Given the description of an element on the screen output the (x, y) to click on. 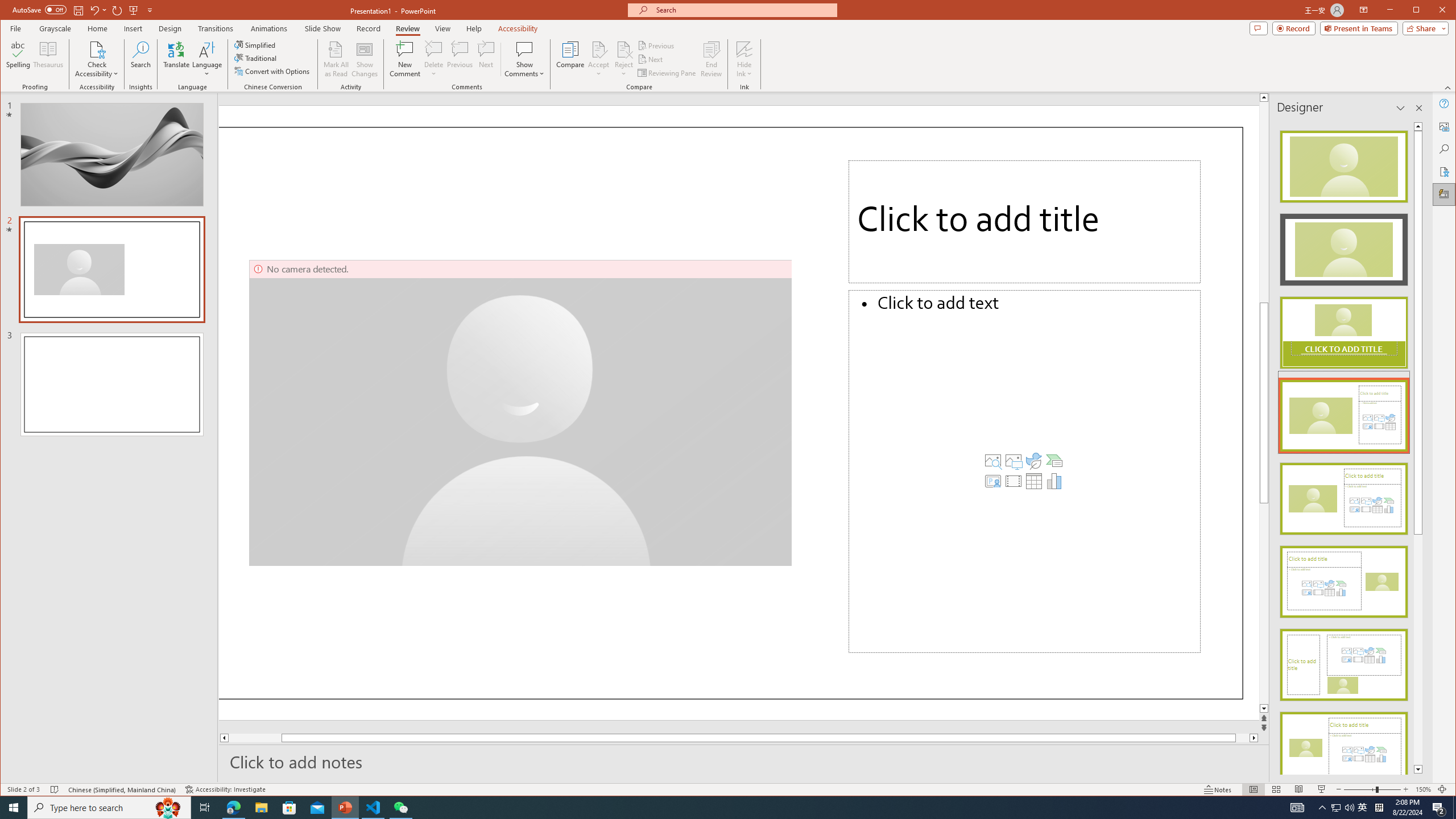
Simplified (255, 44)
Accept (598, 59)
Insert Cameo (992, 480)
